Given the description of an element on the screen output the (x, y) to click on. 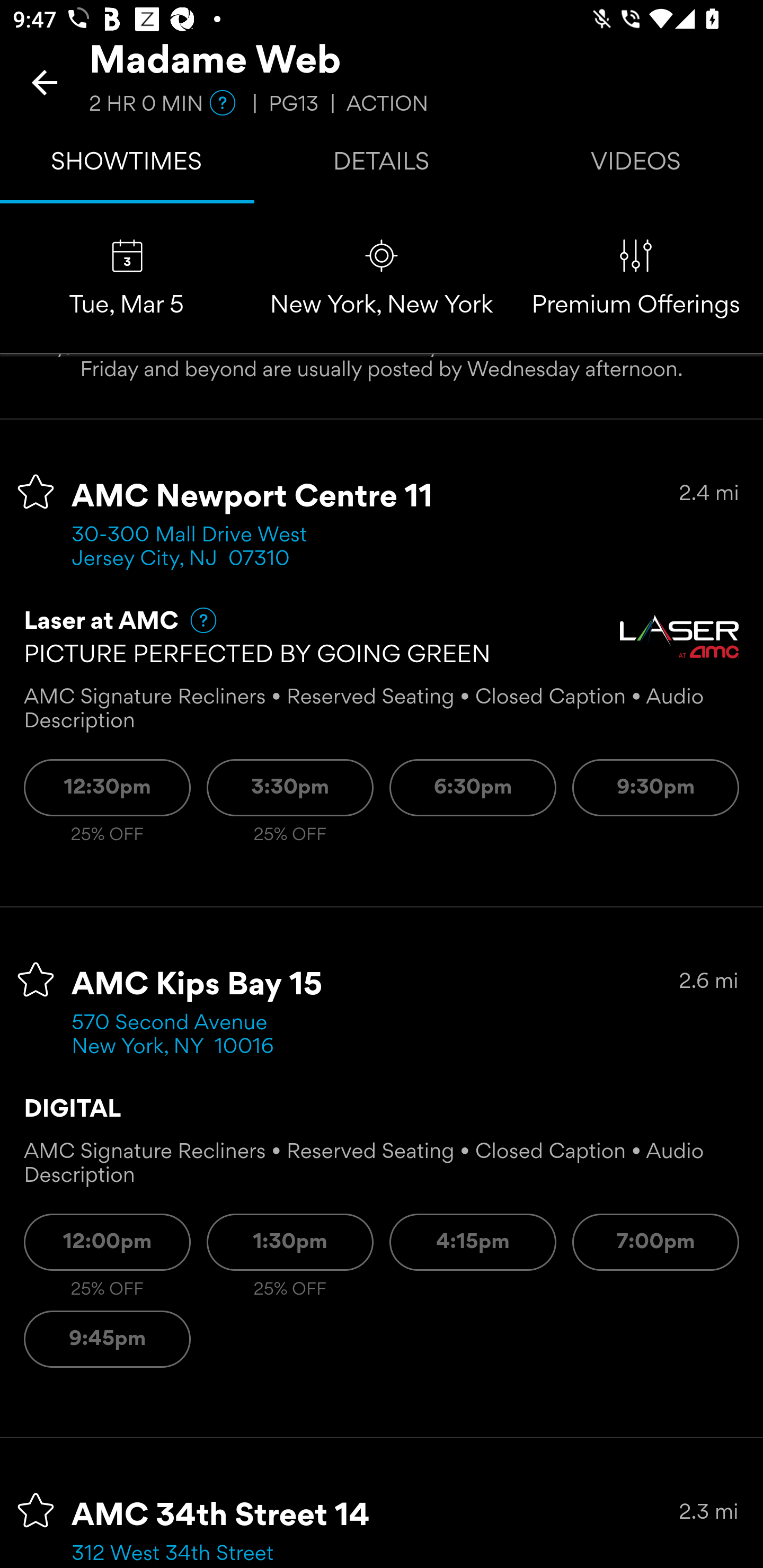
Back (44, 82)
SHOWTIMES
Tab 1 of 3 (127, 165)
DETAILS
Tab 2 of 3 (381, 165)
VIDEOS
Tab 3 of 3 (635, 165)
Change selected day
Tue, Mar 5 (127, 279)
Change location
New York, New York (381, 279)
Premium Offerings
Premium Offerings (635, 279)
AMC Newport Centre 11 (252, 497)
30-300 Mall Drive West  
Jersey City, NJ  07310 (195, 547)
Help (195, 619)
AMC Kips Bay 15 (196, 985)
570 Second Avenue  
New York, NY  10016 (175, 1035)
AMC 34th Street 14 (220, 1516)
312 West 34th Street  
New York, NY  10001 (178, 1555)
